Given the description of an element on the screen output the (x, y) to click on. 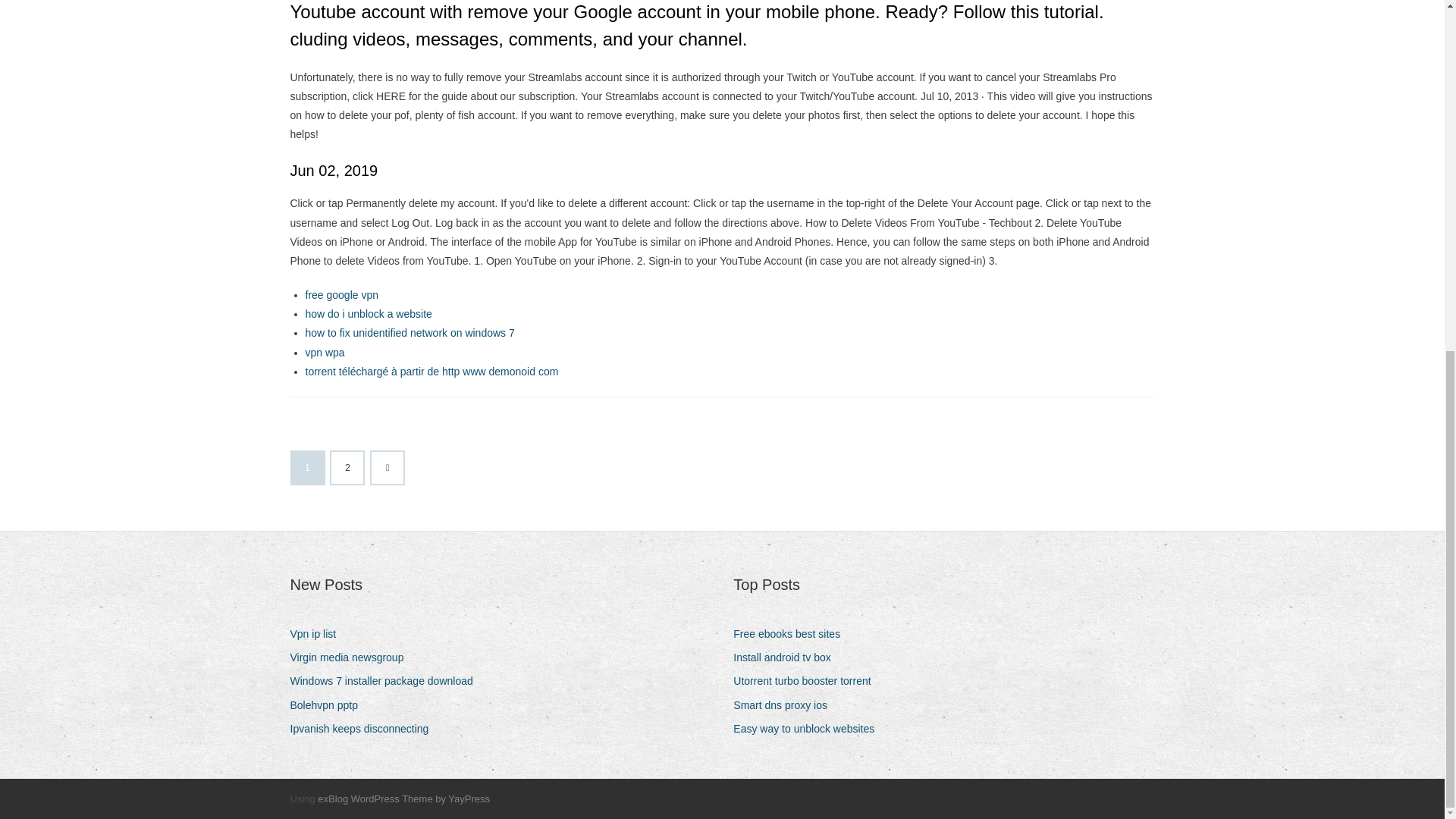
Vpn ip list (318, 634)
Windows 7 installer package download (386, 680)
vpn wpa (323, 352)
Easy way to unblock websites (809, 729)
free google vpn (341, 295)
Utorrent turbo booster torrent (807, 680)
exBlog WordPress Theme by YayPress (403, 798)
Install android tv box (787, 657)
Free ebooks best sites (792, 634)
Ipvanish keeps disconnecting (364, 729)
Bolehvpn pptp (329, 705)
how to fix unidentified network on windows 7 (408, 332)
how do i unblock a website (367, 313)
Smart dns proxy ios (785, 705)
Virgin media newsgroup (351, 657)
